Given the description of an element on the screen output the (x, y) to click on. 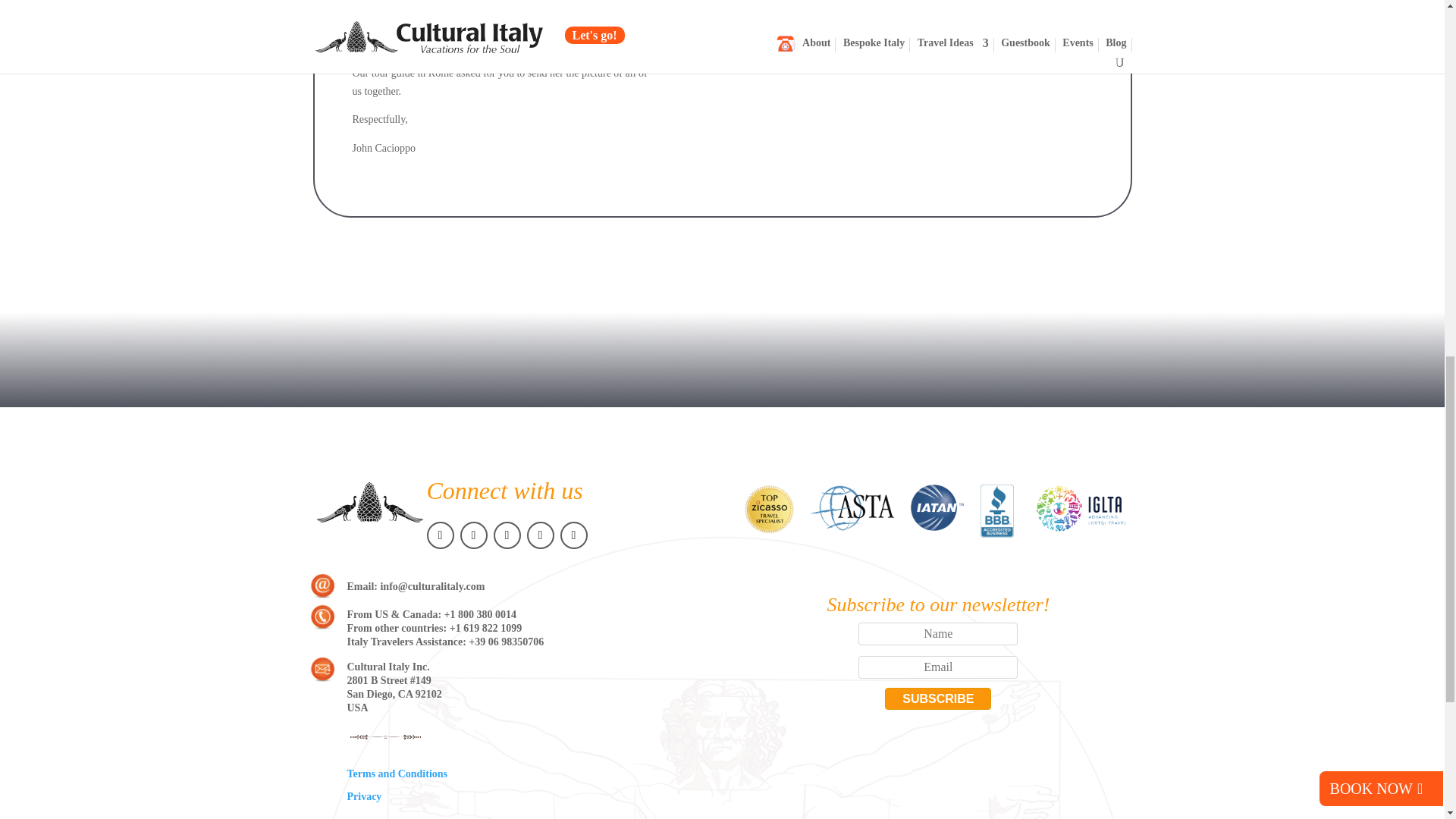
Follow on LinkedIn (572, 534)
Follow on Facebook (439, 534)
Follow on Instagram (506, 534)
Follow on Pinterest (539, 534)
Follow on X (473, 534)
